Given the description of an element on the screen output the (x, y) to click on. 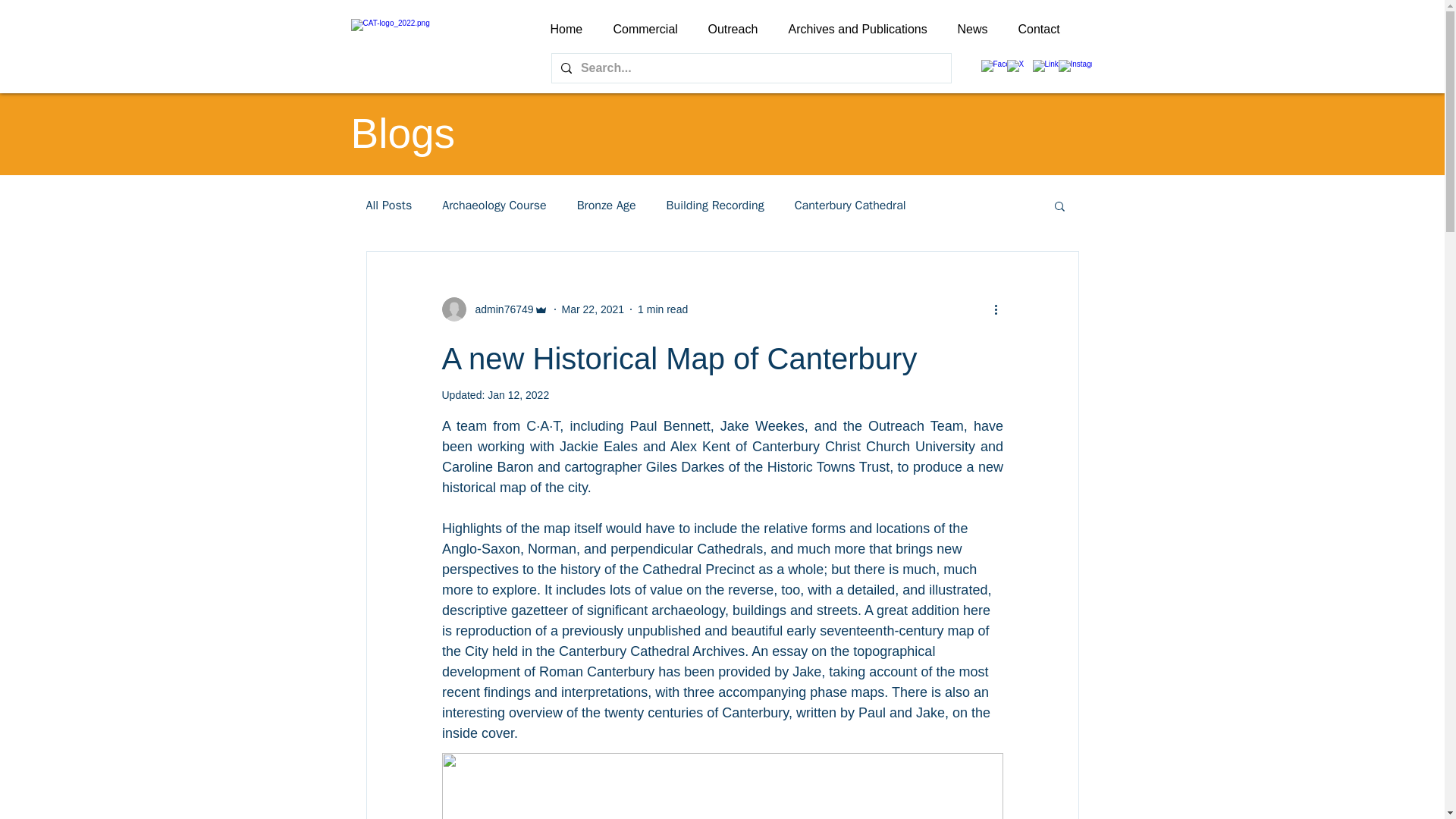
1 min read (662, 309)
Contact (1038, 29)
Commercial (644, 29)
Jan 12, 2022 (517, 395)
News (972, 29)
Archives and Publications (857, 29)
Mar 22, 2021 (593, 309)
Outreach (733, 29)
Home (566, 29)
admin76749 (498, 309)
